Given the description of an element on the screen output the (x, y) to click on. 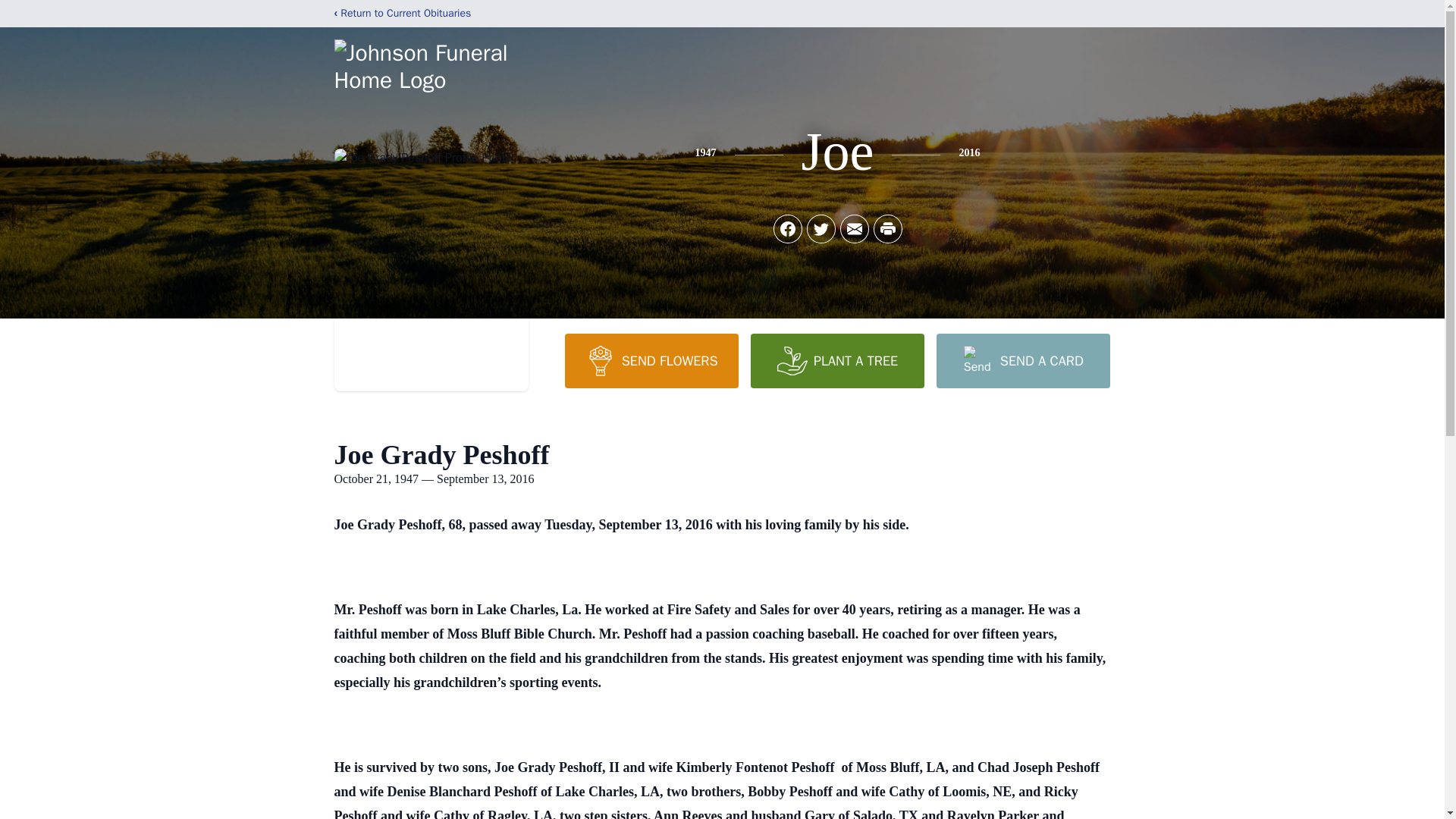
SEND FLOWERS (651, 360)
PLANT A TREE (837, 360)
SEND A CARD (1022, 360)
